Given the description of an element on the screen output the (x, y) to click on. 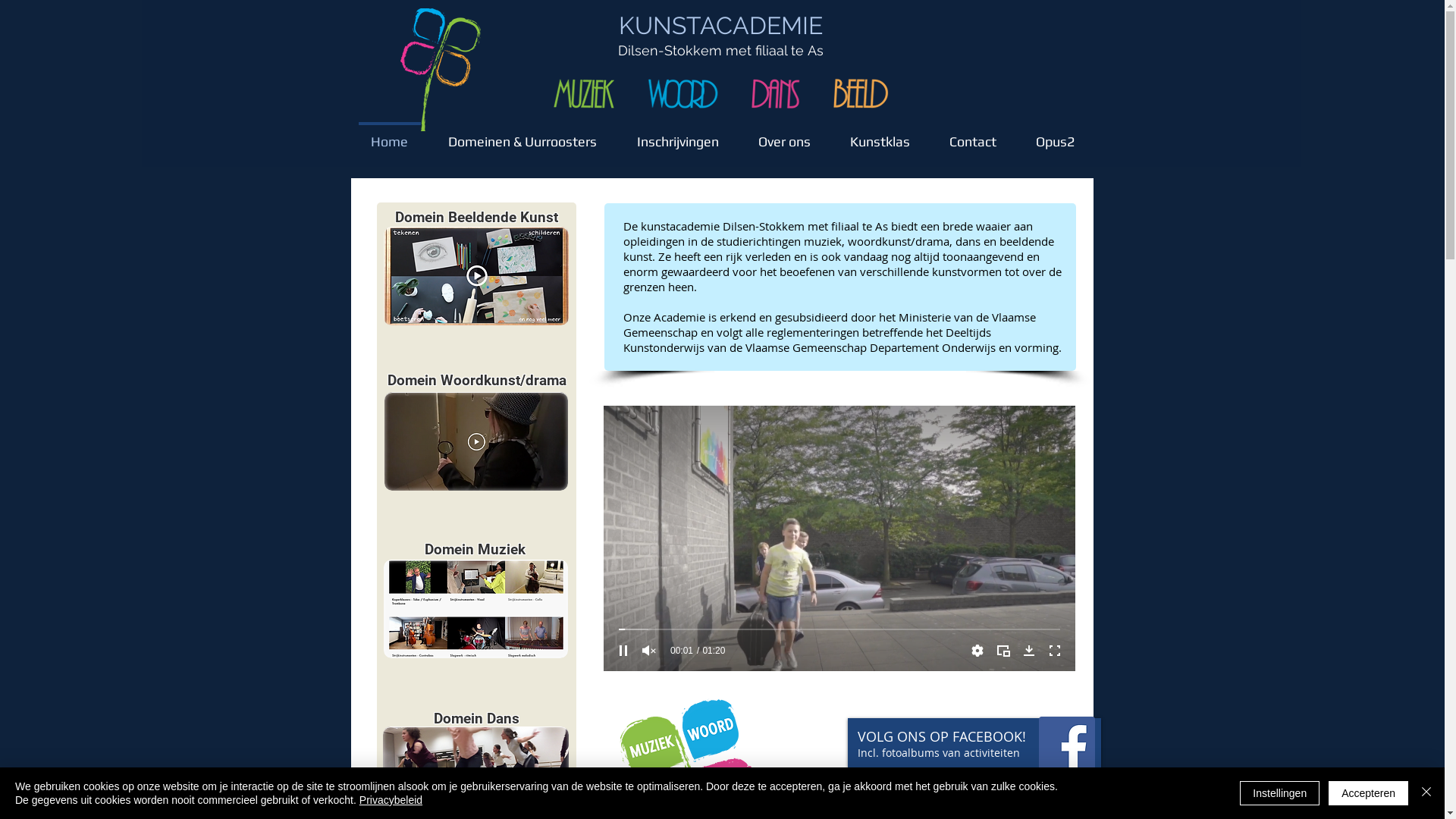
Instellingen Element type: text (1279, 793)
Accepteren Element type: text (1368, 793)
BEZOEK ONS OP YOUTUBE Element type: text (938, 802)
Domein Beeldende Kunst Element type: text (476, 217)
Domeinen & Uurroosters Element type: text (521, 134)
Over ons Element type: text (784, 134)
Contact Element type: text (972, 134)
Domein Muziek  Element type: text (476, 549)
Domein Dans Element type: text (476, 718)
Opus2 Element type: text (1055, 134)
Kunstklas Element type: text (878, 134)
Domein Woordkunst/drama Element type: text (475, 380)
Inschrijvingen Element type: text (677, 134)
Privacybeleid Element type: text (390, 799)
VOLG ONS OP FACEBOOK! Element type: text (940, 736)
Home Element type: text (388, 134)
